Given the description of an element on the screen output the (x, y) to click on. 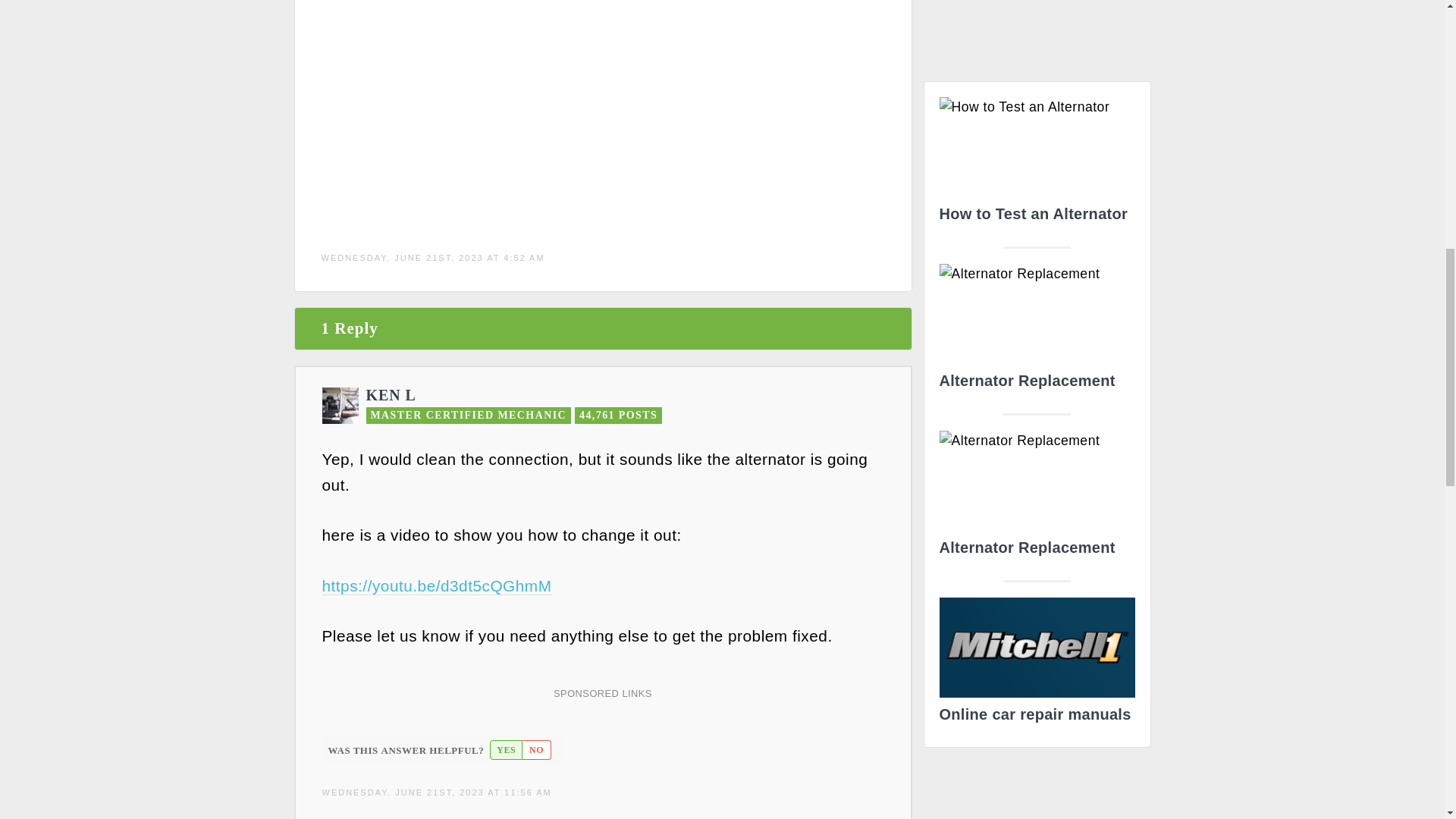
Car Manual (1036, 664)
Advertisement (1037, 34)
Advertisement (600, 115)
